Given the description of an element on the screen output the (x, y) to click on. 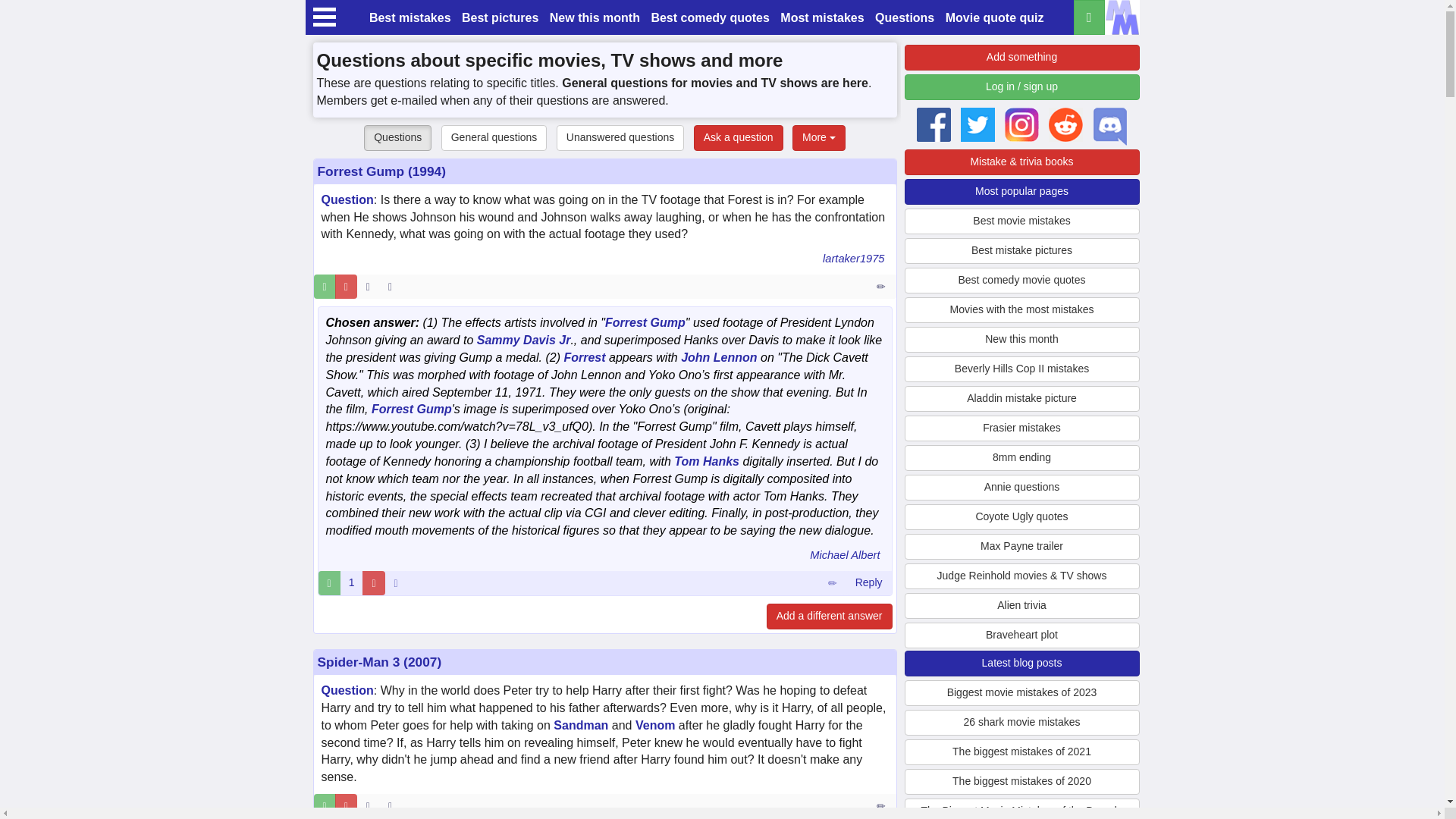
Share this entry (392, 286)
Edit answer 53808 (831, 582)
I dislike this (345, 805)
Entry 206686 (881, 805)
I dislike this (345, 286)
Entry 206704 (881, 286)
I like this (329, 582)
Comment on answer 53808 (868, 582)
I like this (325, 805)
Share this entry (392, 805)
